Given the description of an element on the screen output the (x, y) to click on. 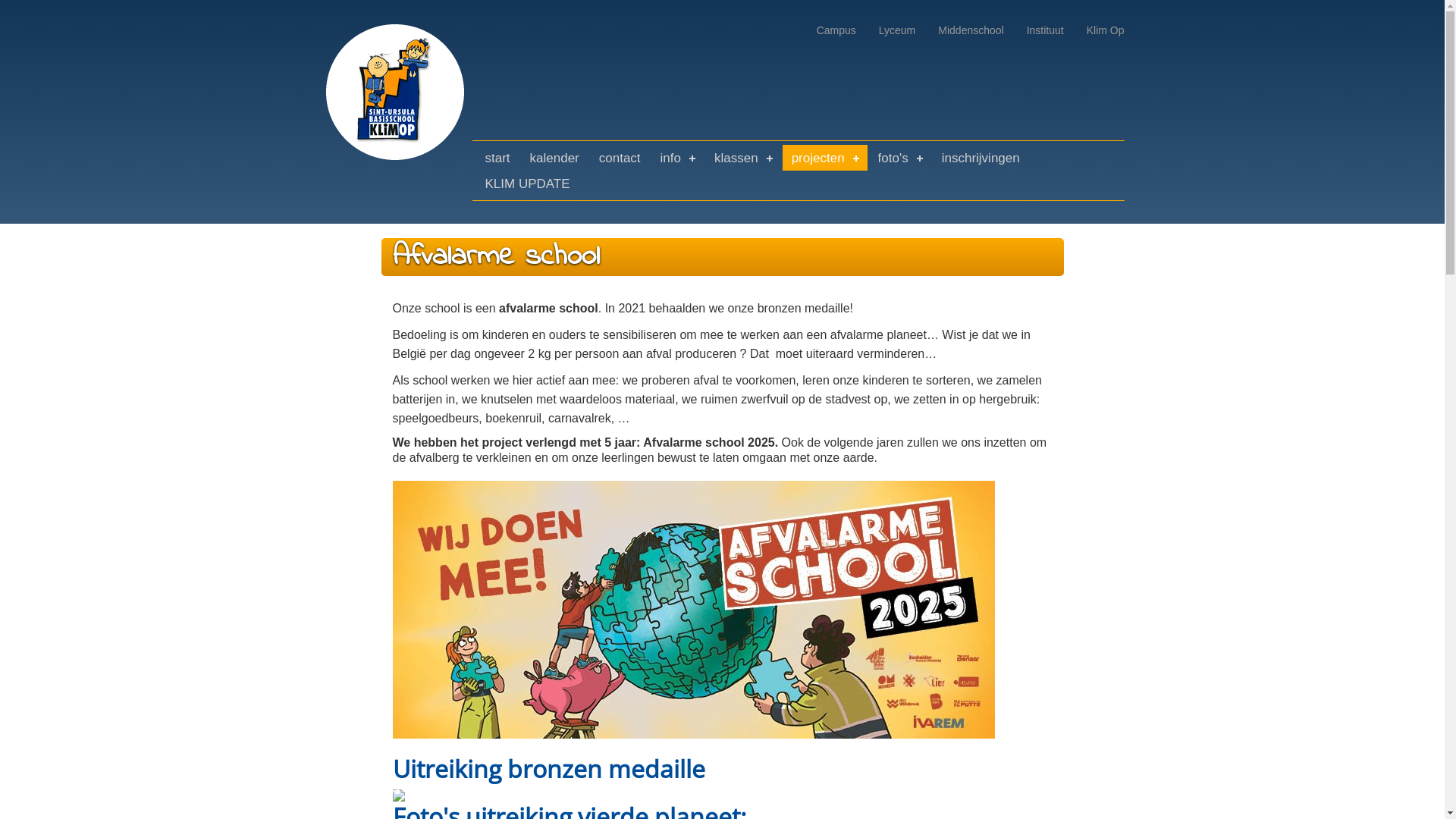
contact Element type: text (619, 157)
KLIM UPDATE Element type: text (527, 183)
Instituut Element type: text (1044, 29)
foto's Element type: text (900, 157)
projecten Element type: text (824, 157)
klassen Element type: text (743, 157)
Middenschool Element type: text (970, 29)
info Element type: text (677, 157)
Campus Element type: text (836, 29)
Klim Op Element type: text (1105, 29)
inschrijvingen Element type: text (980, 157)
kalender Element type: text (554, 157)
Lyceum Element type: text (897, 29)
start Element type: text (497, 157)
